Given the description of an element on the screen output the (x, y) to click on. 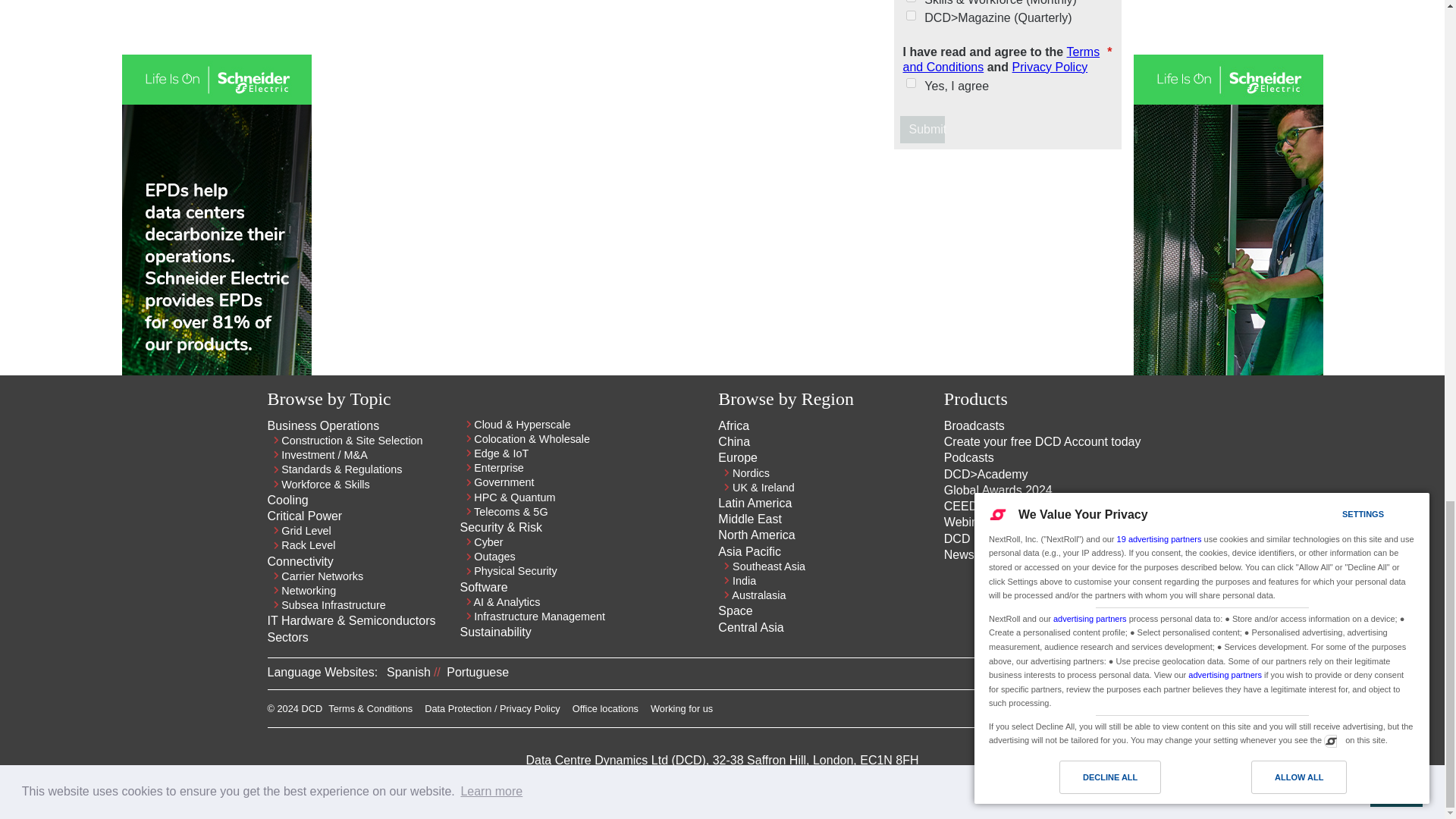
yes (910, 81)
3rd party ad content (1007, 256)
DMAG (910, 15)
Linkedin (1113, 712)
Twitter (1140, 712)
Facebook (1167, 712)
